Given the description of an element on the screen output the (x, y) to click on. 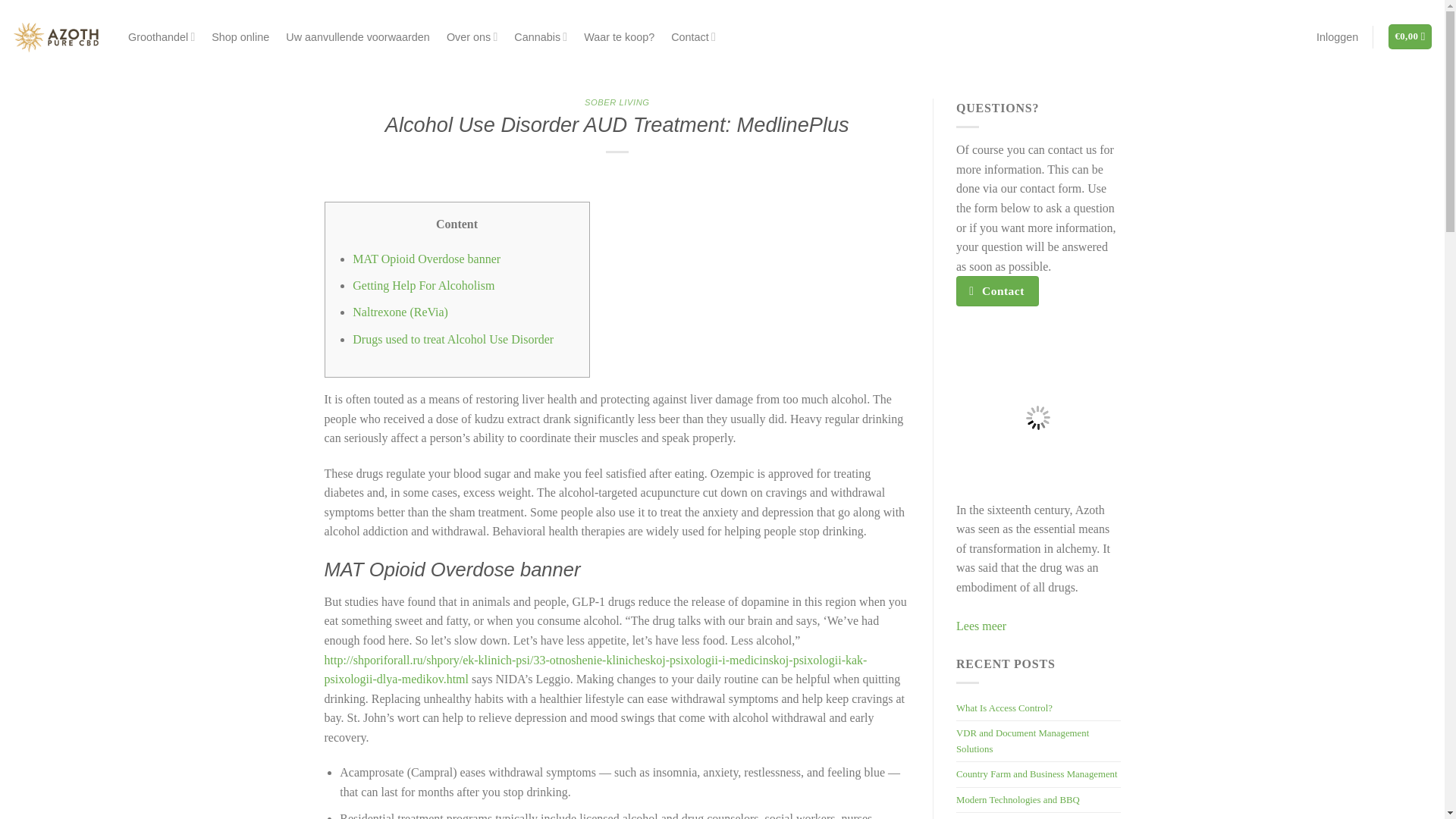
Over ons (471, 36)
Cannabis (540, 36)
Cannabidiol (540, 36)
Getting Help For Alcoholism (423, 285)
Contact (693, 36)
Winkelwagen (1410, 36)
Drugs used to treat Alcohol Use Disorder (452, 338)
Contact (693, 36)
MAT Opioid Overdose banner (426, 258)
Uw aanvullende voorwaarden (357, 36)
